Given the description of an element on the screen output the (x, y) to click on. 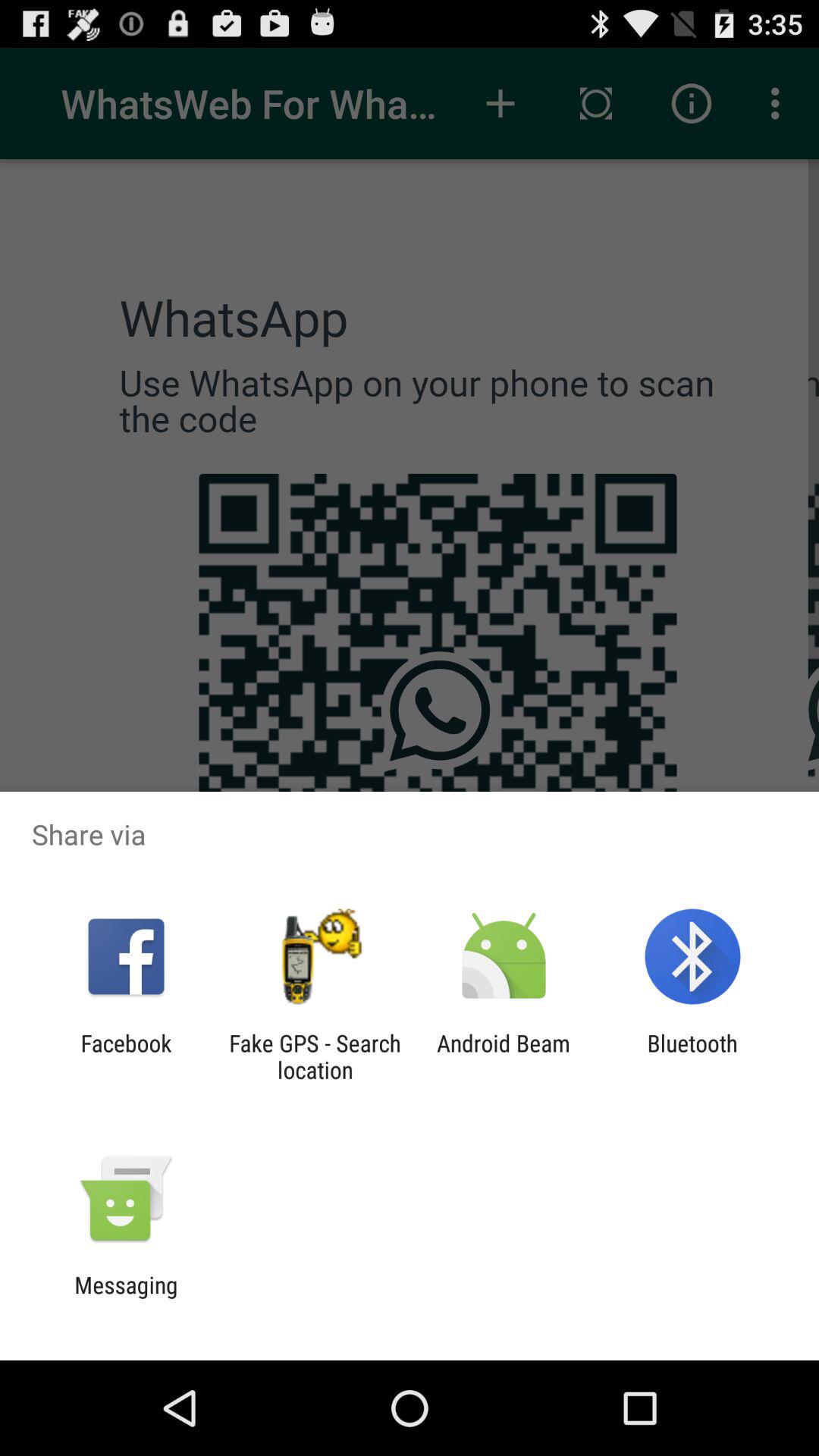
jump until android beam (503, 1056)
